Given the description of an element on the screen output the (x, y) to click on. 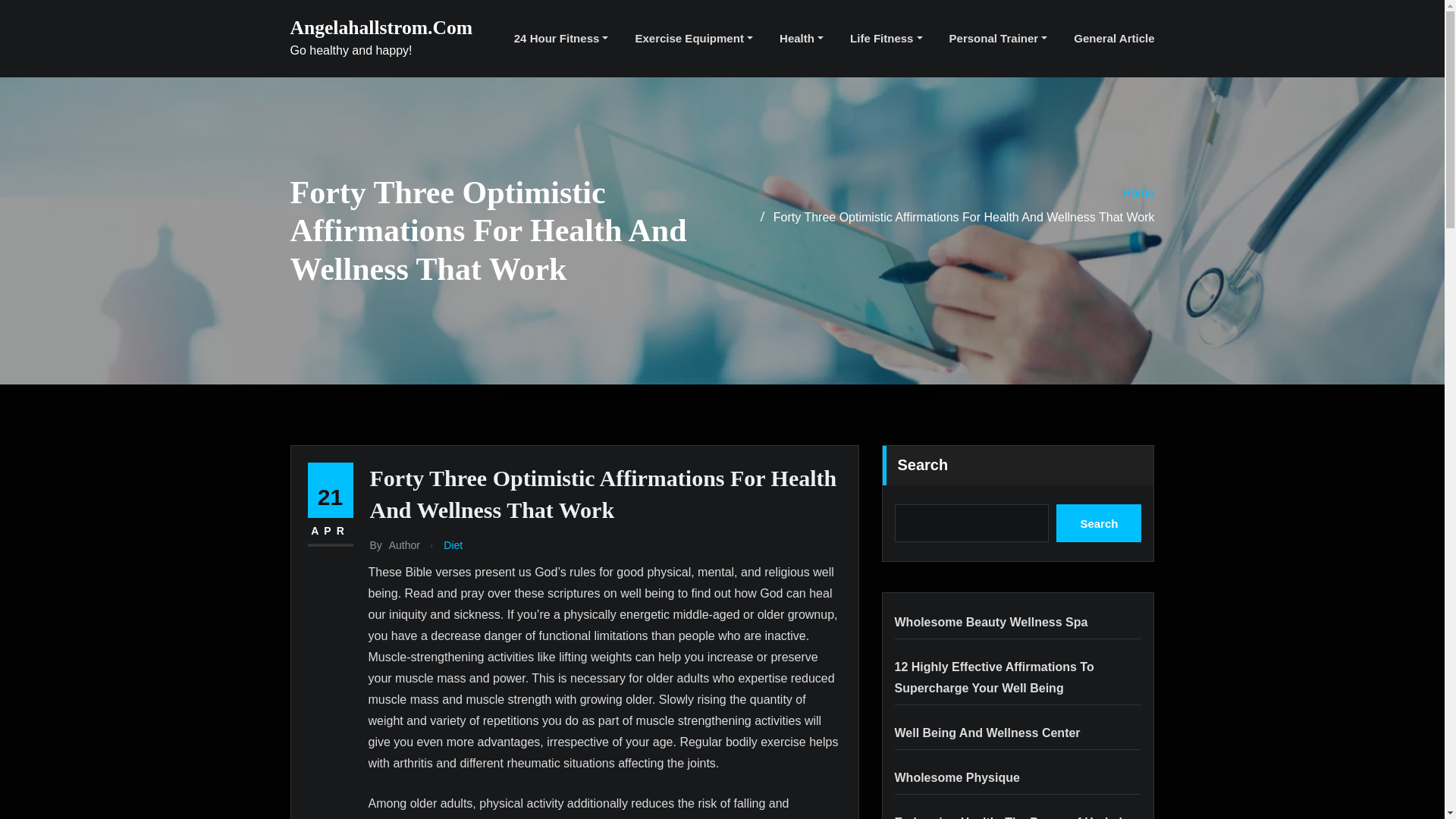
Angelahallstrom.Com (380, 27)
Personal Trainer (998, 38)
Search (1099, 523)
Health (801, 38)
Exercise Equipment (693, 38)
By Author (394, 545)
24 Hour Fitness (560, 38)
General Article (1114, 38)
Home (1138, 192)
Diet (453, 545)
Life Fitness (886, 38)
